Given the description of an element on the screen output the (x, y) to click on. 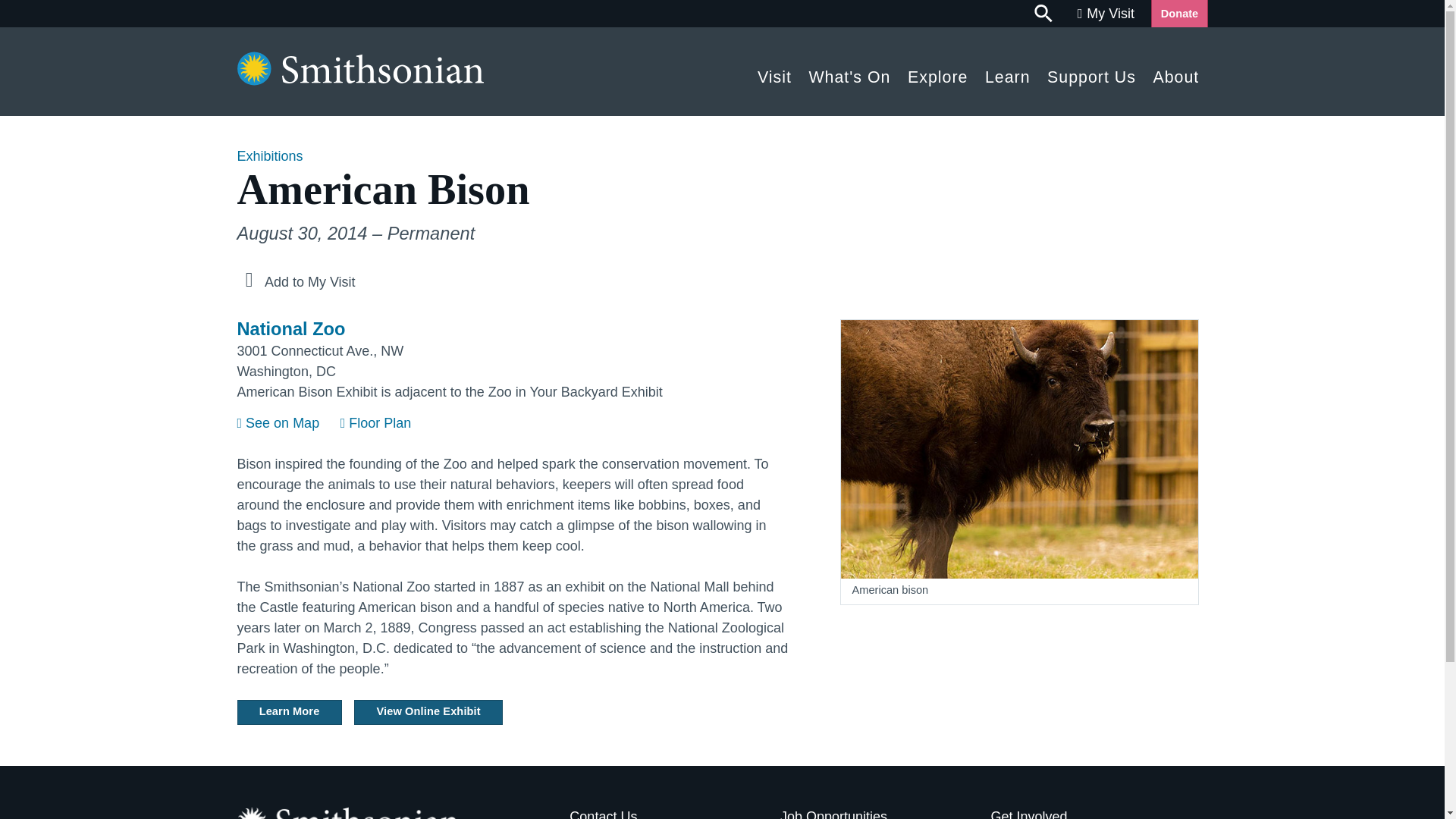
My Visit (1105, 13)
Home (359, 80)
Search (1044, 13)
What's On (849, 72)
Explore (937, 72)
Donate (1179, 13)
